Given the description of an element on the screen output the (x, y) to click on. 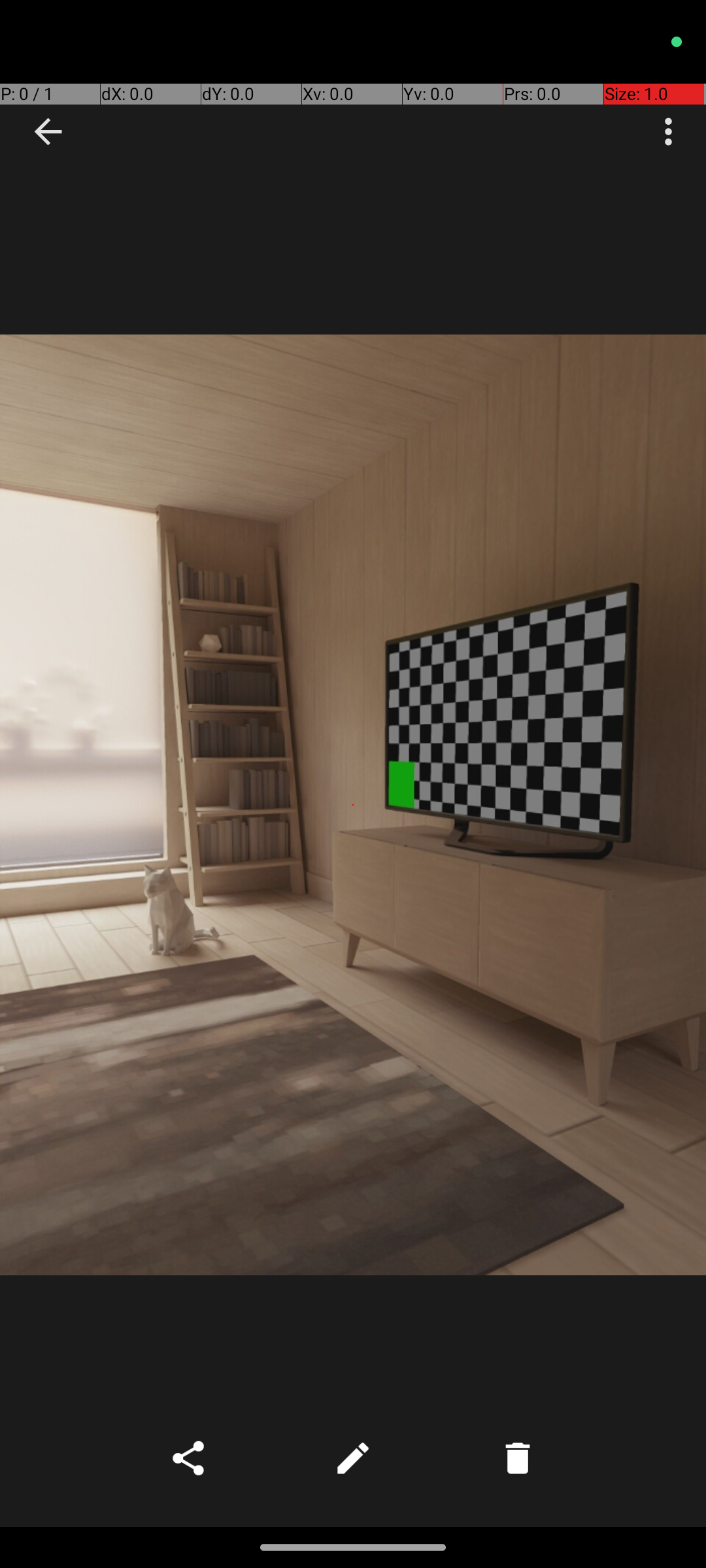
Photo taken on Oct 15, 2023 15:34:25 Element type: android.widget.ImageView (353, 804)
